Given the description of an element on the screen output the (x, y) to click on. 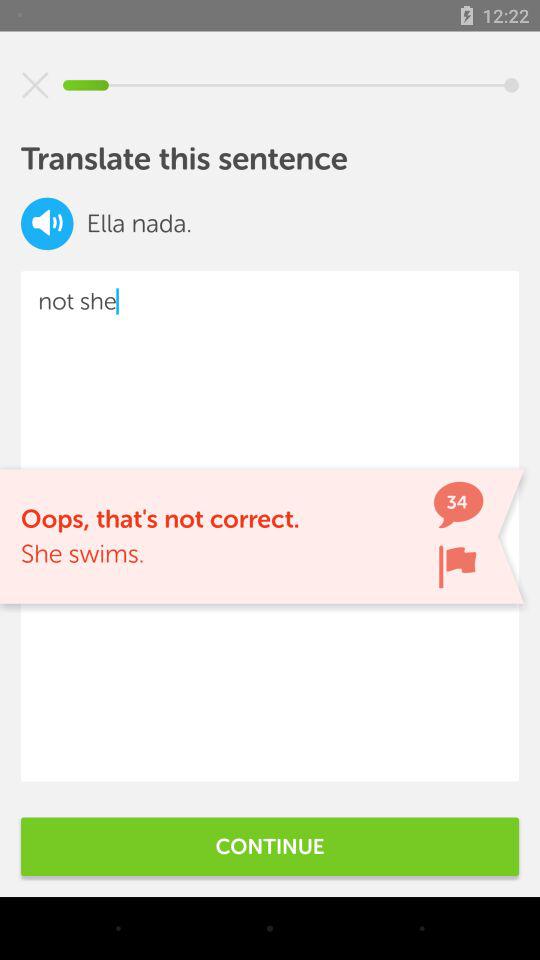
close button (35, 85)
